Given the description of an element on the screen output the (x, y) to click on. 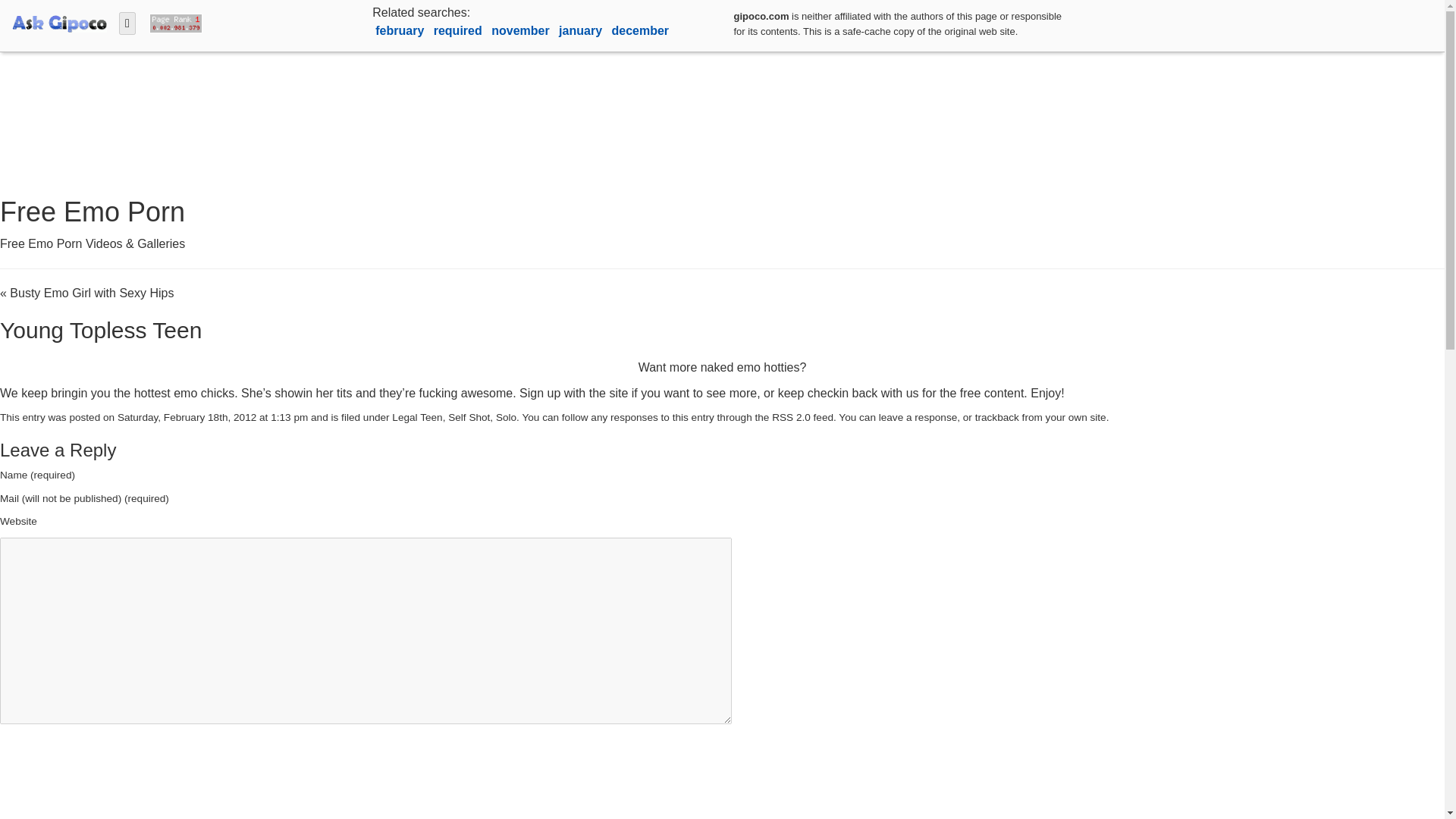
view page-rank and visitors counter and free website stats (172, 21)
february (400, 30)
november (522, 30)
required (458, 30)
february (400, 30)
december (639, 30)
free experimental uncensored search engine - home page (58, 21)
january (582, 30)
december (639, 30)
january (582, 30)
